Given the description of an element on the screen output the (x, y) to click on. 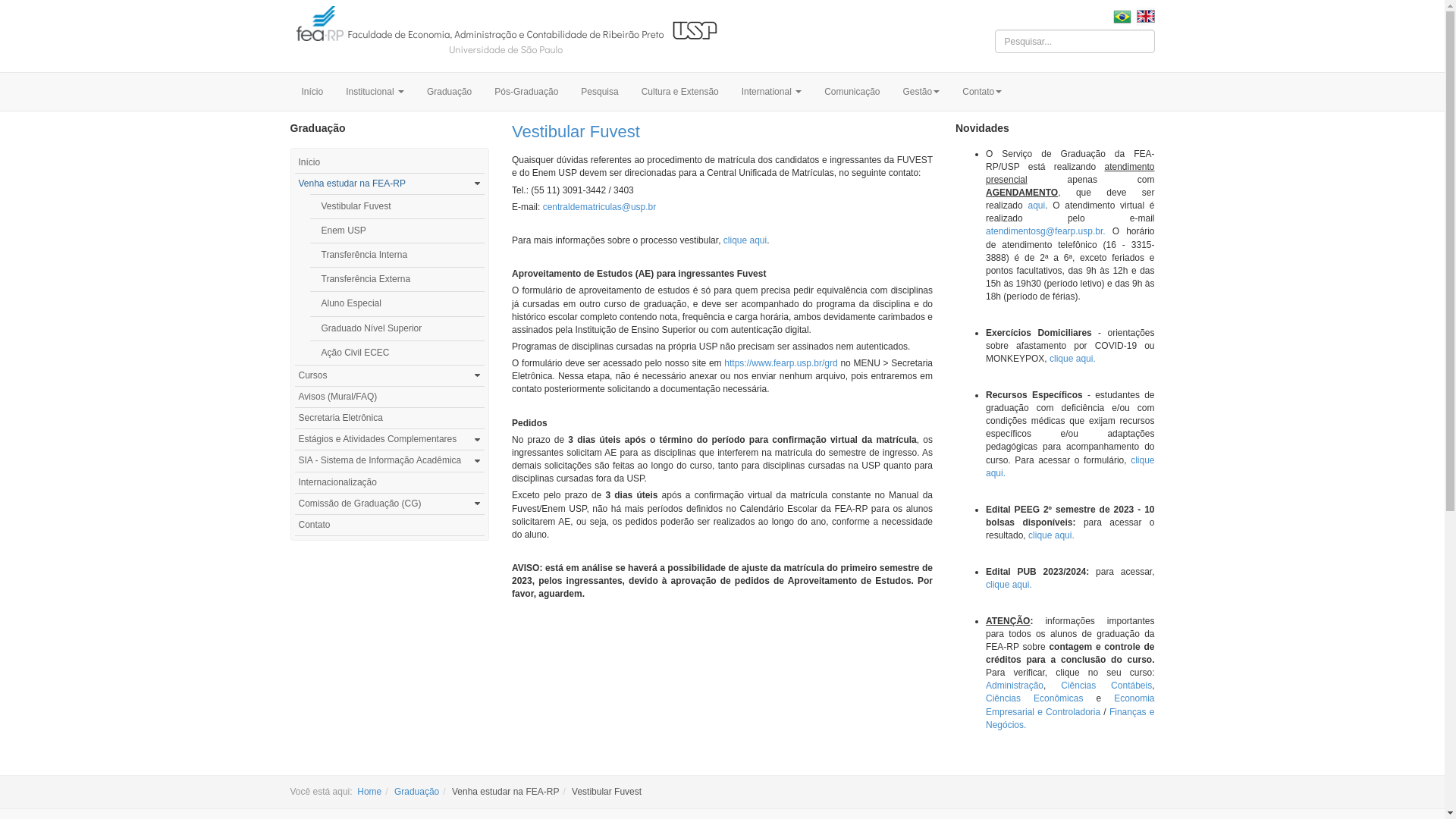
Vestibular Fuvest Element type: text (575, 131)
Venha estudar na FEA-RP Element type: text (381, 183)
   Element type: text (1142, 15)
Enem USP Element type: text (396, 230)
International Element type: text (771, 91)
Vestibular Fuvest Element type: text (396, 206)
Home Element type: text (369, 791)
centraldematriculas@usp.br Element type: text (599, 206)
clique aqui. Element type: text (1051, 535)
Contato Element type: text (981, 91)
FEA-RP/USP Element type: hover (504, 33)
. Element type: text (1004, 472)
clique aqui Element type: text (1069, 466)
clique aqui. Element type: text (1072, 358)
Pesquisa Element type: text (599, 91)
atendimentosg@fearp.usp.br. Element type: text (1045, 230)
https://www.fearp.usp.br/grd Element type: text (780, 362)
Institucional Element type: text (374, 91)
Cursos Element type: text (381, 375)
Aluno Especial Element type: text (396, 303)
clique aqui Element type: text (744, 240)
aqui Element type: text (1035, 205)
clique aqui. Element type: text (1008, 584)
Economia Empresarial e Controladoria Element type: text (1069, 704)
Contato Element type: text (389, 524)
Avisos (Mural/FAQ) Element type: text (389, 396)
